Given the description of an element on the screen output the (x, y) to click on. 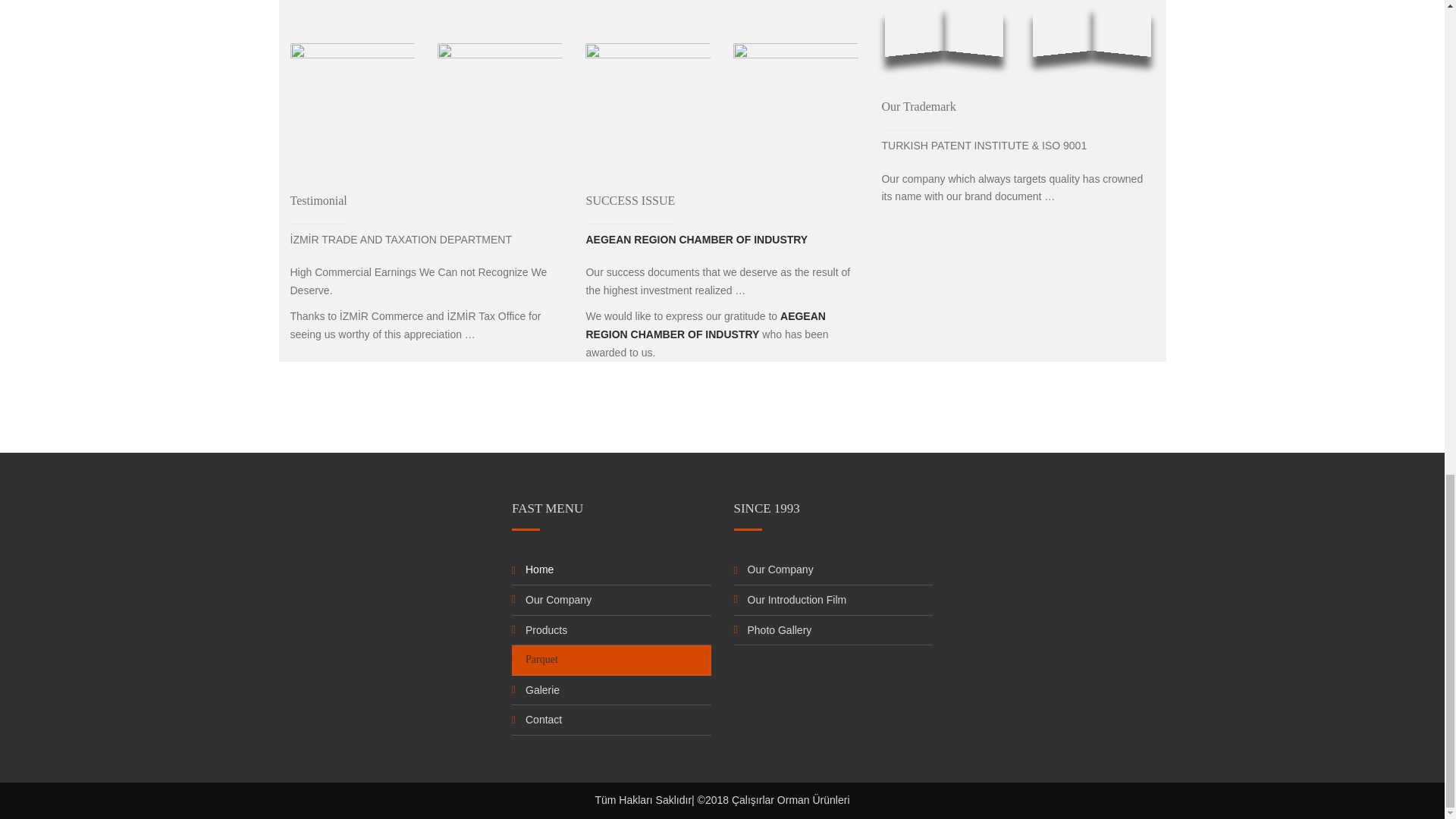
Home (539, 570)
Our Company (558, 599)
Products (546, 630)
